Given the description of an element on the screen output the (x, y) to click on. 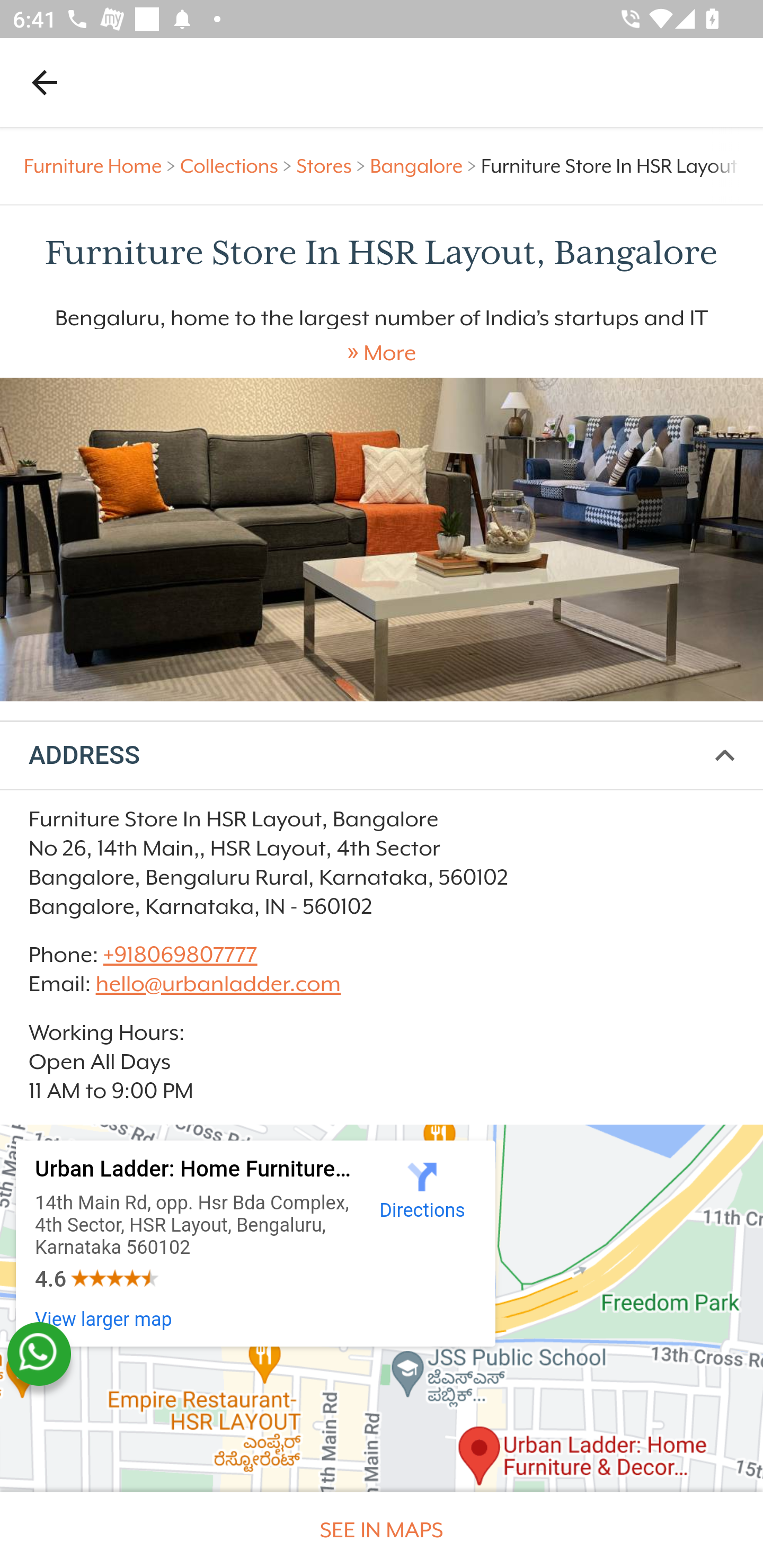
Navigate up (44, 82)
Furniture Home >  Furniture Home  >  (102, 165)
Collections >  Collections  >  (238, 165)
Stores >  Stores  >  (333, 165)
Bangalore >  Bangalore  >  (424, 165)
» More (381, 353)
Experience Centre (381, 539)
ADDRESS (381, 756)
+918069807777 (179, 953)
hello@urbanladder.com (218, 983)
View larger map (104, 1319)
whatsapp (38, 1353)
SEE IN MAPS (381, 1530)
